Given the description of an element on the screen output the (x, y) to click on. 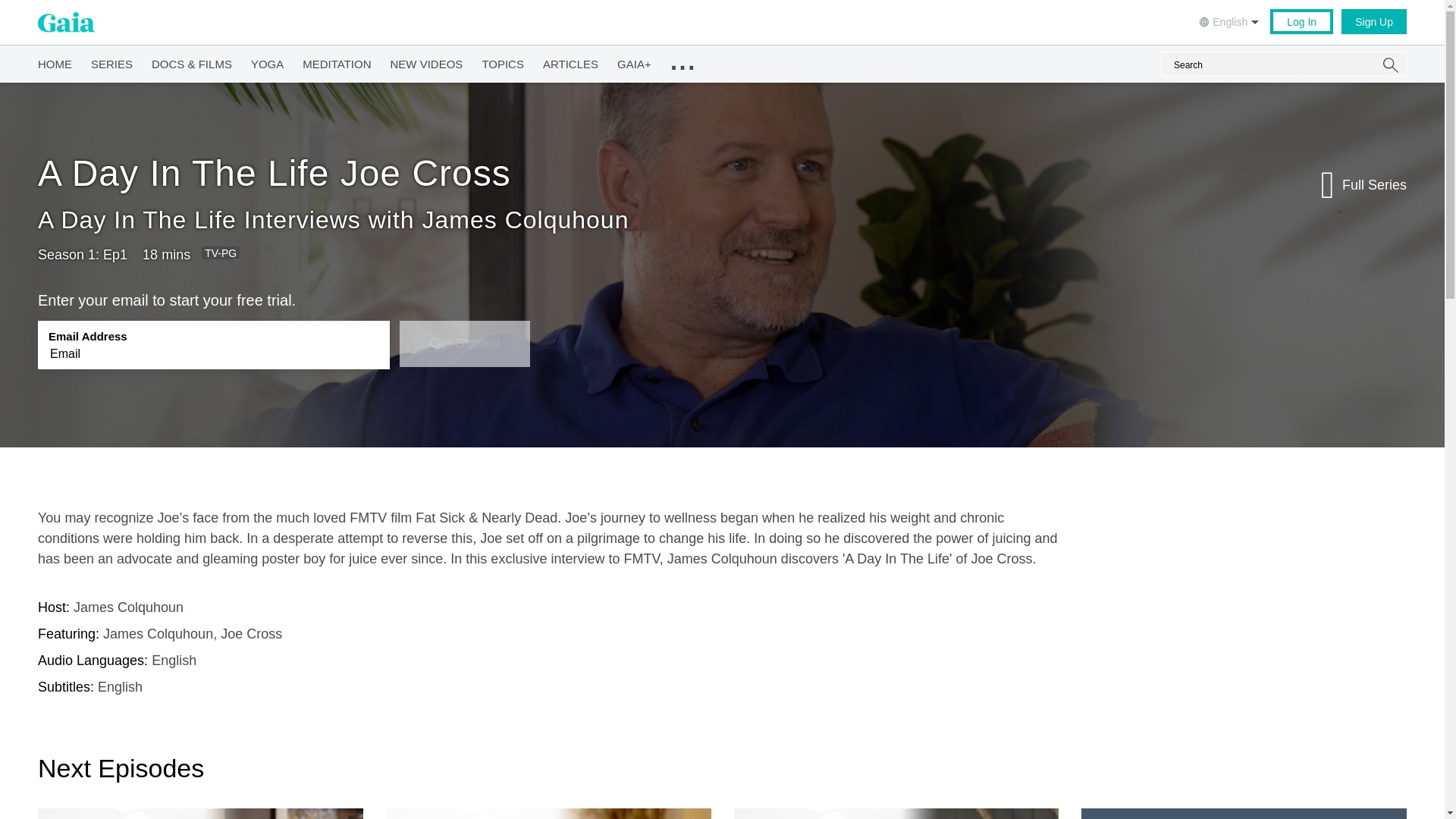
ARTICLES (570, 61)
YOGA (266, 61)
HOME (54, 61)
... (682, 60)
TOPICS (502, 61)
MEDITATION (336, 61)
SERIES (111, 61)
A Day In The Life Interviews (199, 219)
English (1230, 20)
Log In (1301, 21)
Sign Up (1373, 21)
NEW VIDEOS (426, 61)
